Given the description of an element on the screen output the (x, y) to click on. 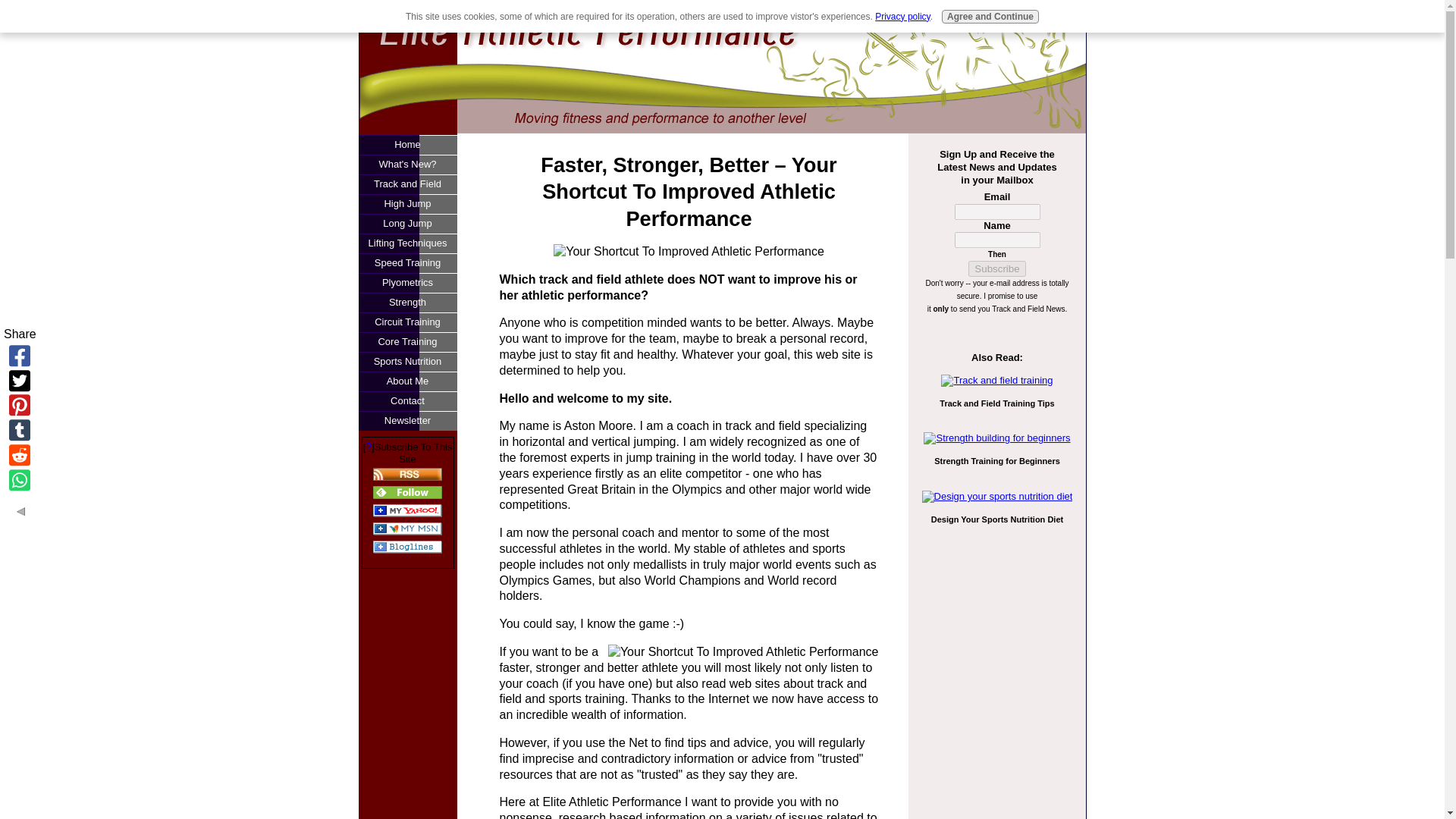
Your Shortcut To Improved Athletic Performance (743, 652)
Strength (407, 302)
Track and field training (996, 380)
What's New? (407, 164)
Your Shortcut To Improved Athletic Performance (688, 252)
Lifting Techniques (407, 243)
Core Training (407, 342)
Subscribe (996, 268)
Strength building for beginners (996, 438)
Long Jump (407, 223)
